Given the description of an element on the screen output the (x, y) to click on. 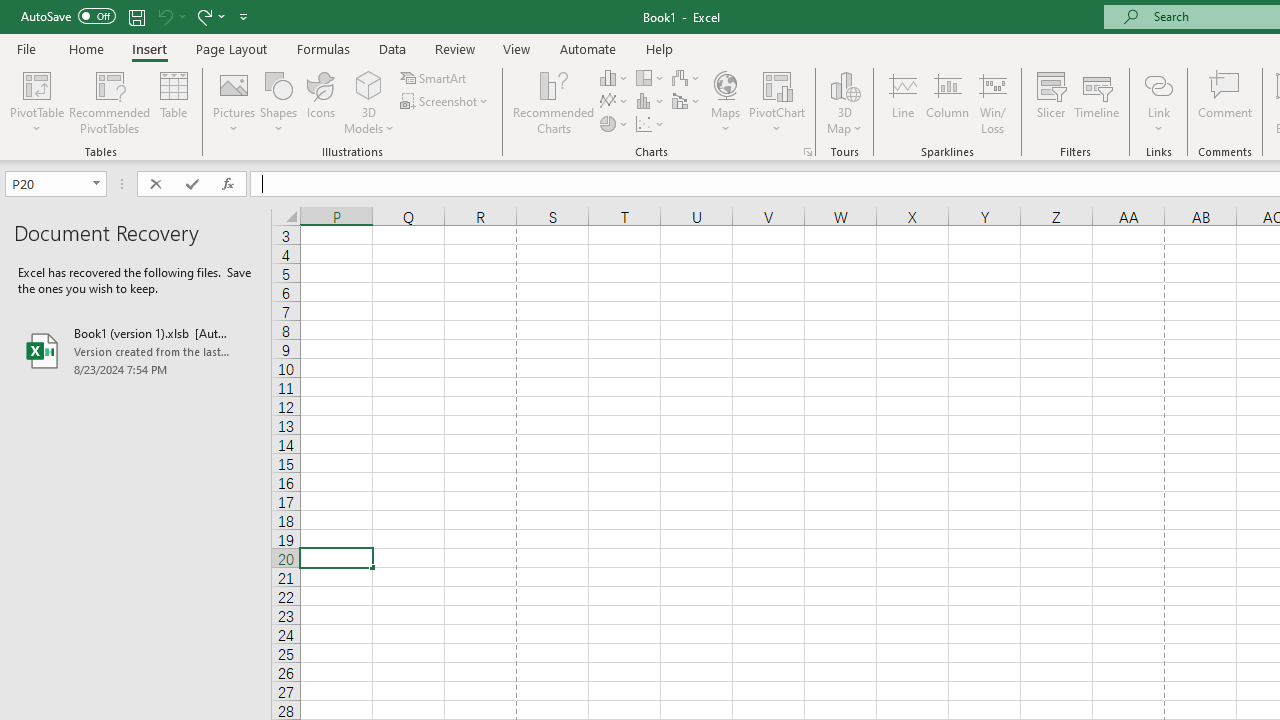
Link (1158, 102)
Icons (320, 102)
Insert Waterfall, Funnel, Stock, Surface, or Radar Chart (687, 78)
Screenshot (445, 101)
Recommended PivotTables (109, 102)
Insert Pie or Doughnut Chart (614, 124)
3D Models (368, 84)
Recommended Charts (808, 151)
Table (173, 102)
3D Map (845, 102)
